Given the description of an element on the screen output the (x, y) to click on. 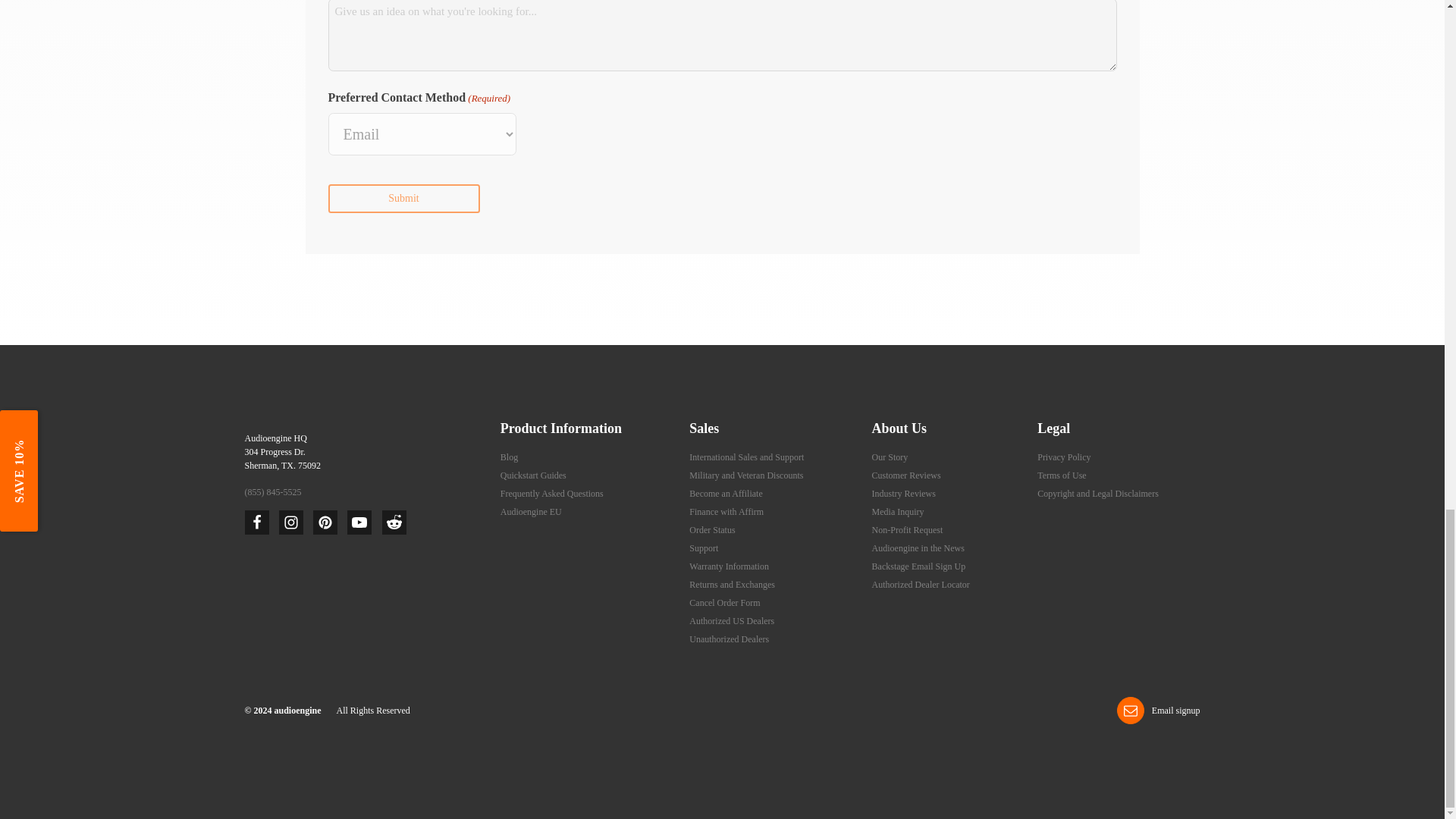
Backstage Email Sign Up (919, 566)
Terms of Use (1061, 475)
Media Inquiry (898, 511)
Authorized Dealer Locator (920, 584)
Customer Reviews (906, 475)
Audioengine EU (531, 511)
Privacy Policy (1063, 457)
Blog (509, 457)
Unauthorized Dealers (728, 638)
Returns and Exchanges (731, 584)
Industry Reviews (904, 493)
Order Status (711, 529)
Become an Affiliate (724, 493)
Visit us on Pinterest (325, 522)
Warranty Information  (729, 566)
